Given the description of an element on the screen output the (x, y) to click on. 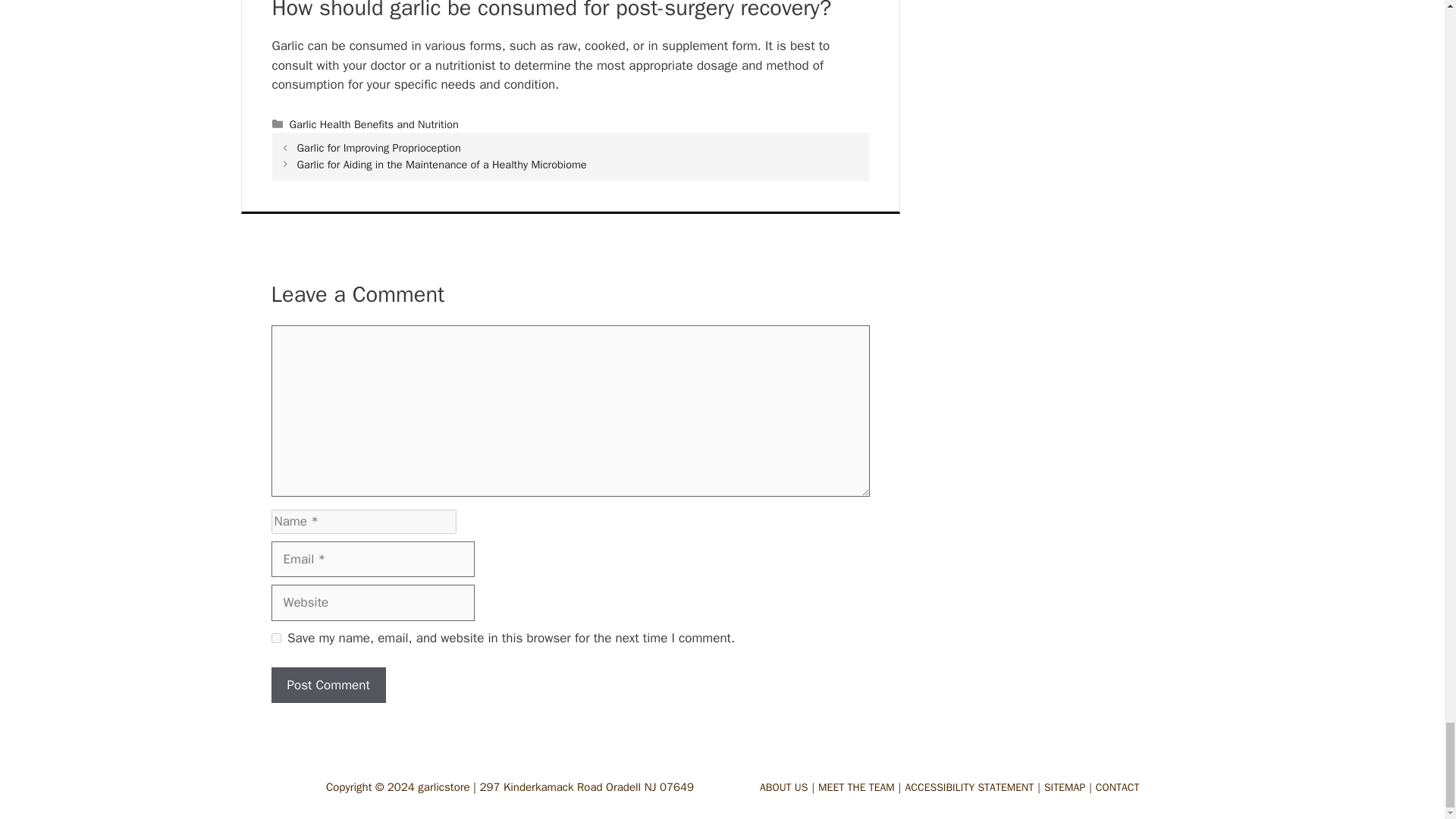
SITEMAP (1069, 787)
Garlic for Improving Proprioception (379, 147)
Next (441, 164)
Garlic Health Benefits and Nutrition (373, 124)
CONTACT (1121, 787)
Post Comment (327, 685)
yes (275, 637)
Post Comment (327, 685)
Garlic for Aiding in the Maintenance of a Healthy Microbiome (441, 164)
ABOUT US (789, 787)
Previous (379, 147)
ACCESSIBILITY STATEMENT (973, 787)
MEET THE TEAM (861, 787)
